Given the description of an element on the screen output the (x, y) to click on. 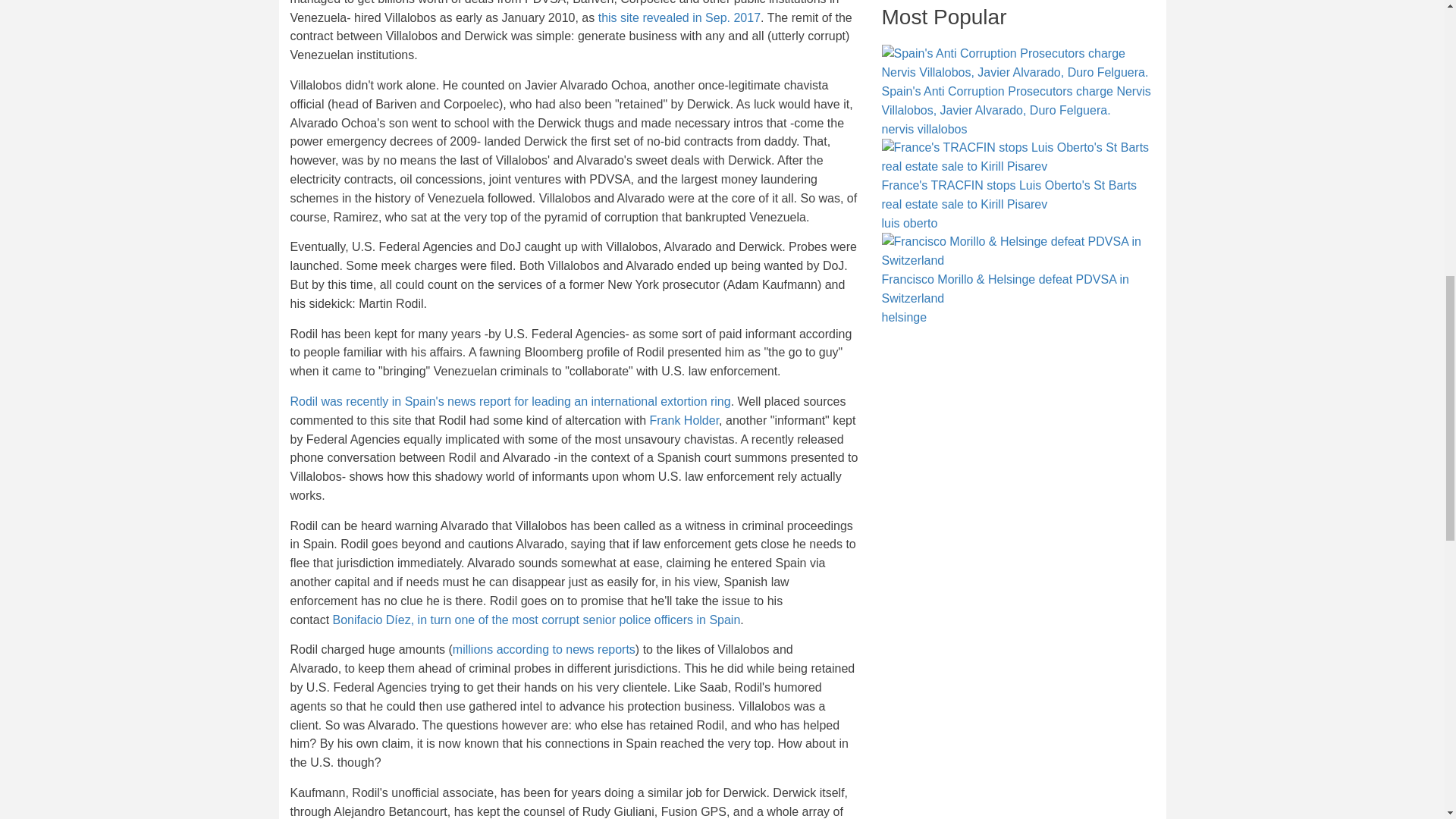
Frank Holder (684, 420)
millions according to news reports (543, 649)
this site revealed in Sep. 2017 (679, 17)
